Given the description of an element on the screen output the (x, y) to click on. 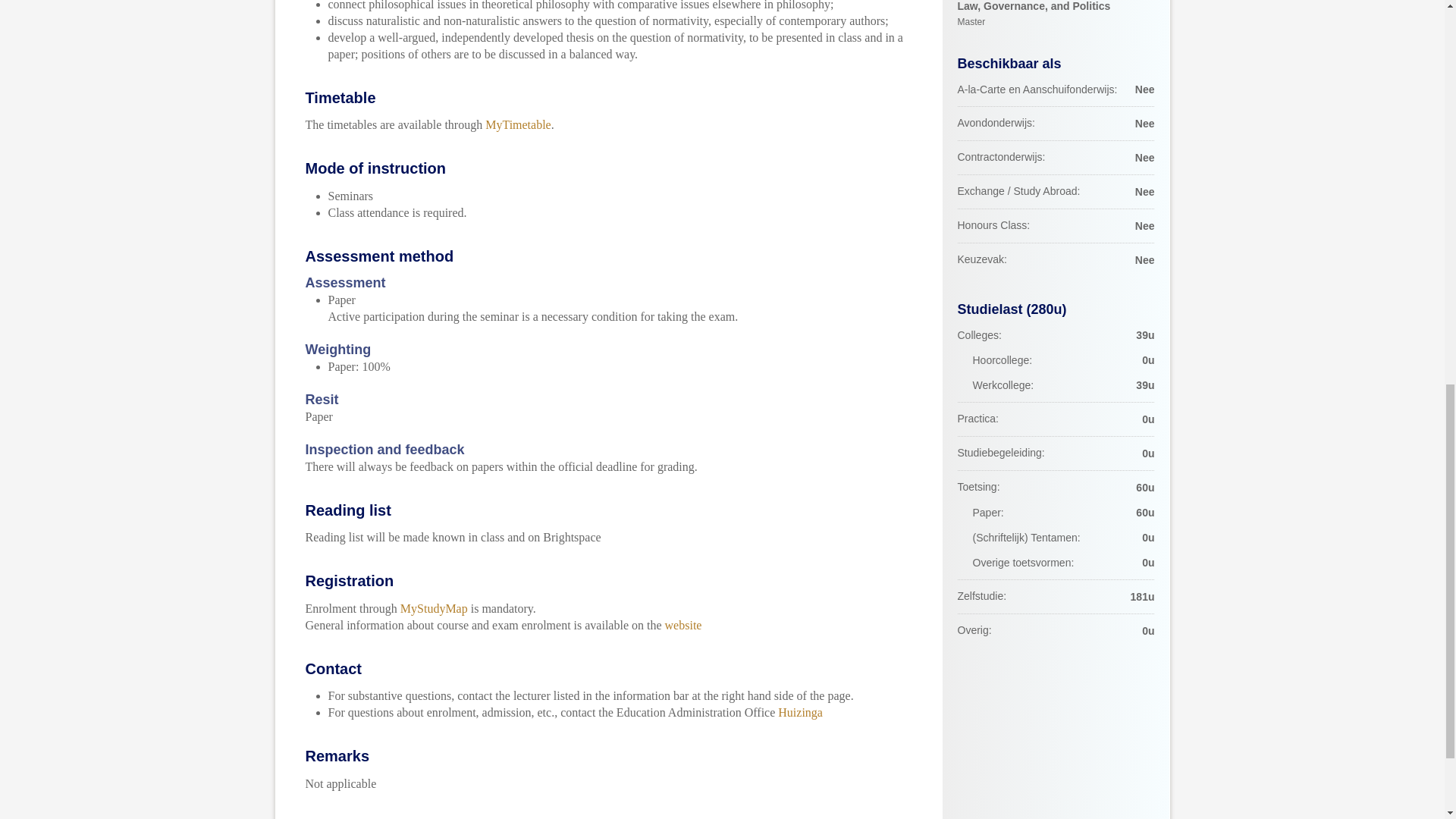
MyTimetable (517, 124)
website (683, 625)
Huizinga (799, 712)
MyStudyMap (433, 608)
